Given the description of an element on the screen output the (x, y) to click on. 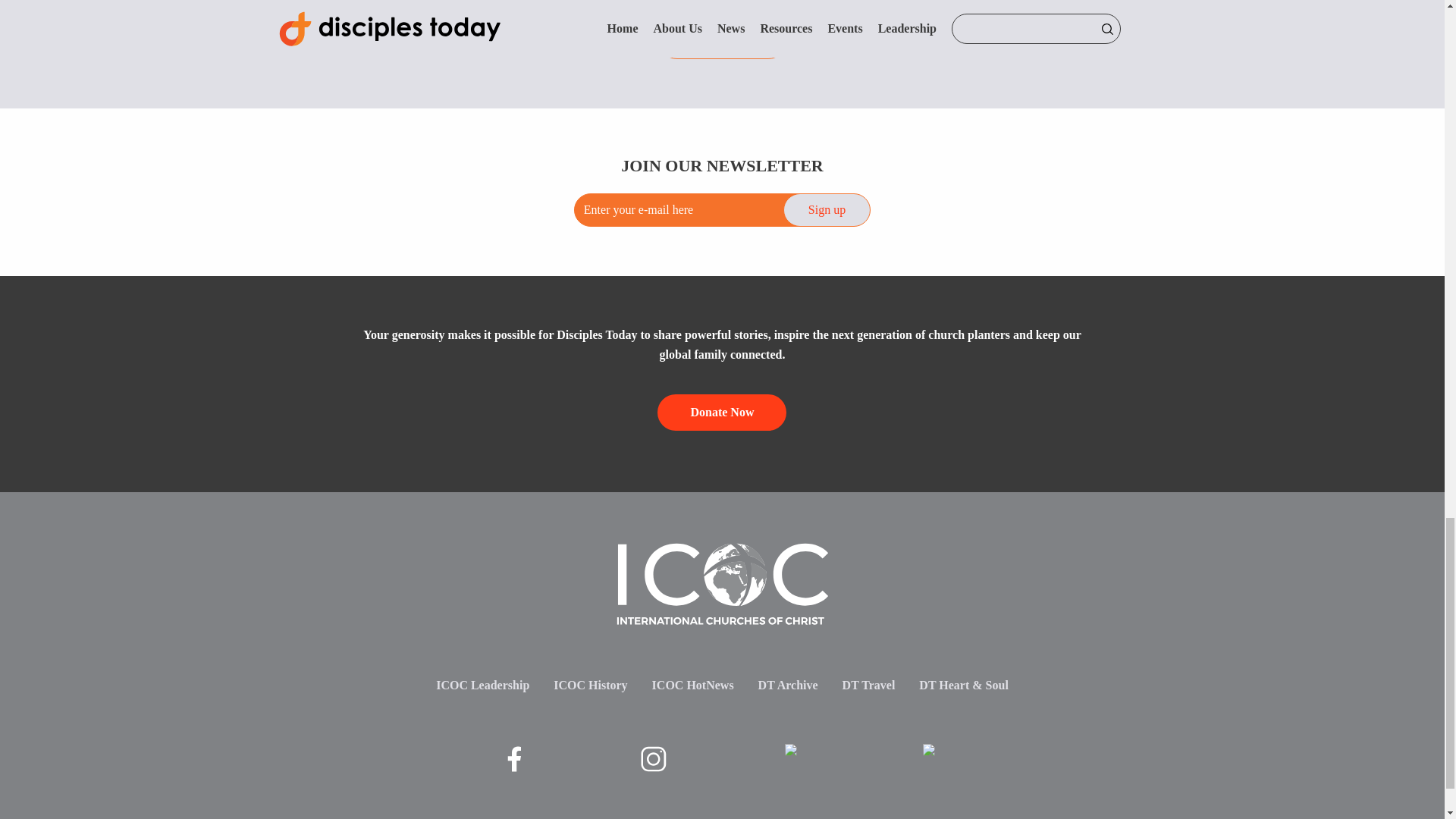
Sign up (826, 209)
